Given the description of an element on the screen output the (x, y) to click on. 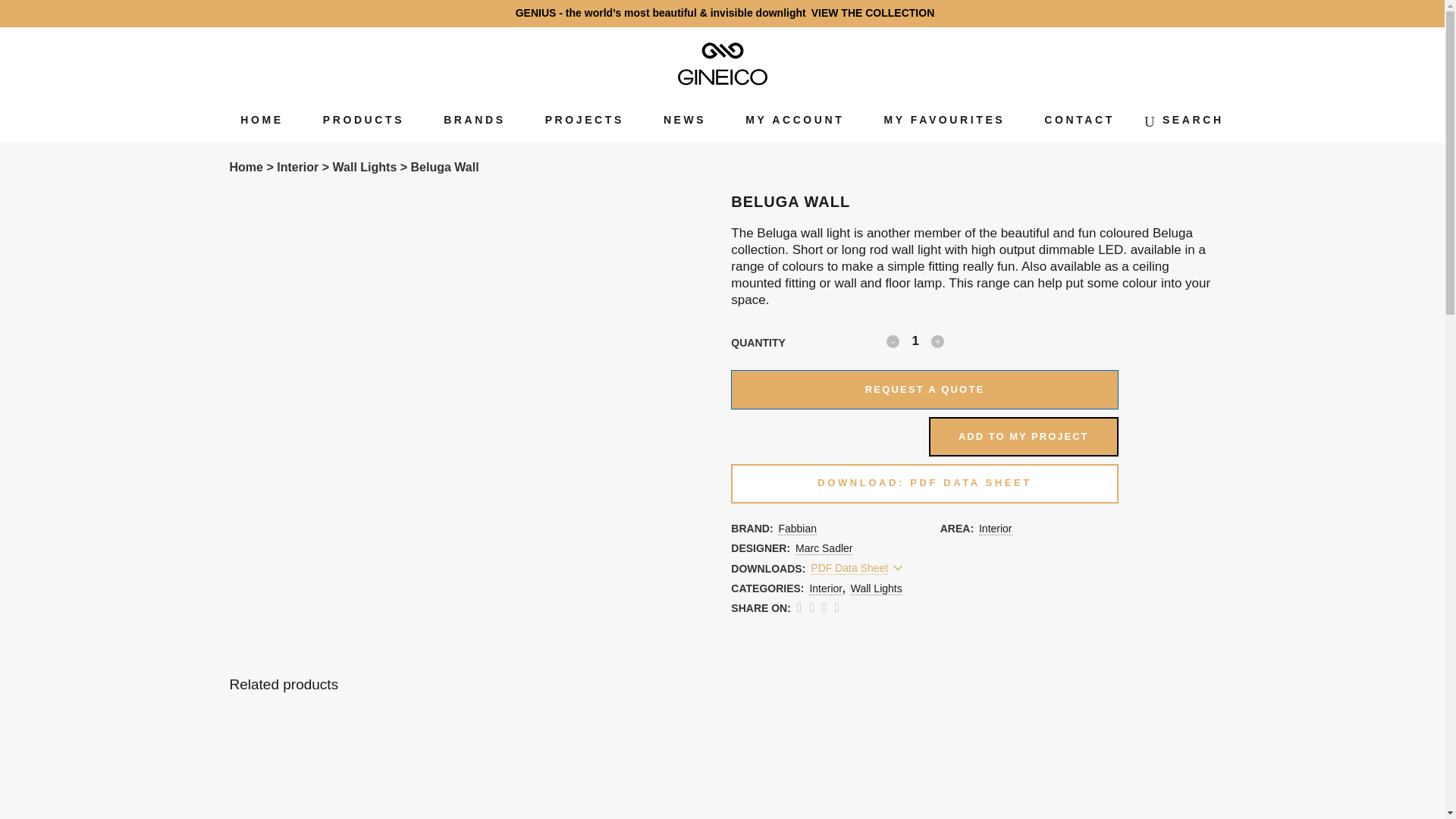
PRODUCTS (362, 119)
VISIT GINEICO MARINE (1239, 12)
- (892, 341)
HOME (261, 119)
1 (914, 340)
